Given the description of an element on the screen output the (x, y) to click on. 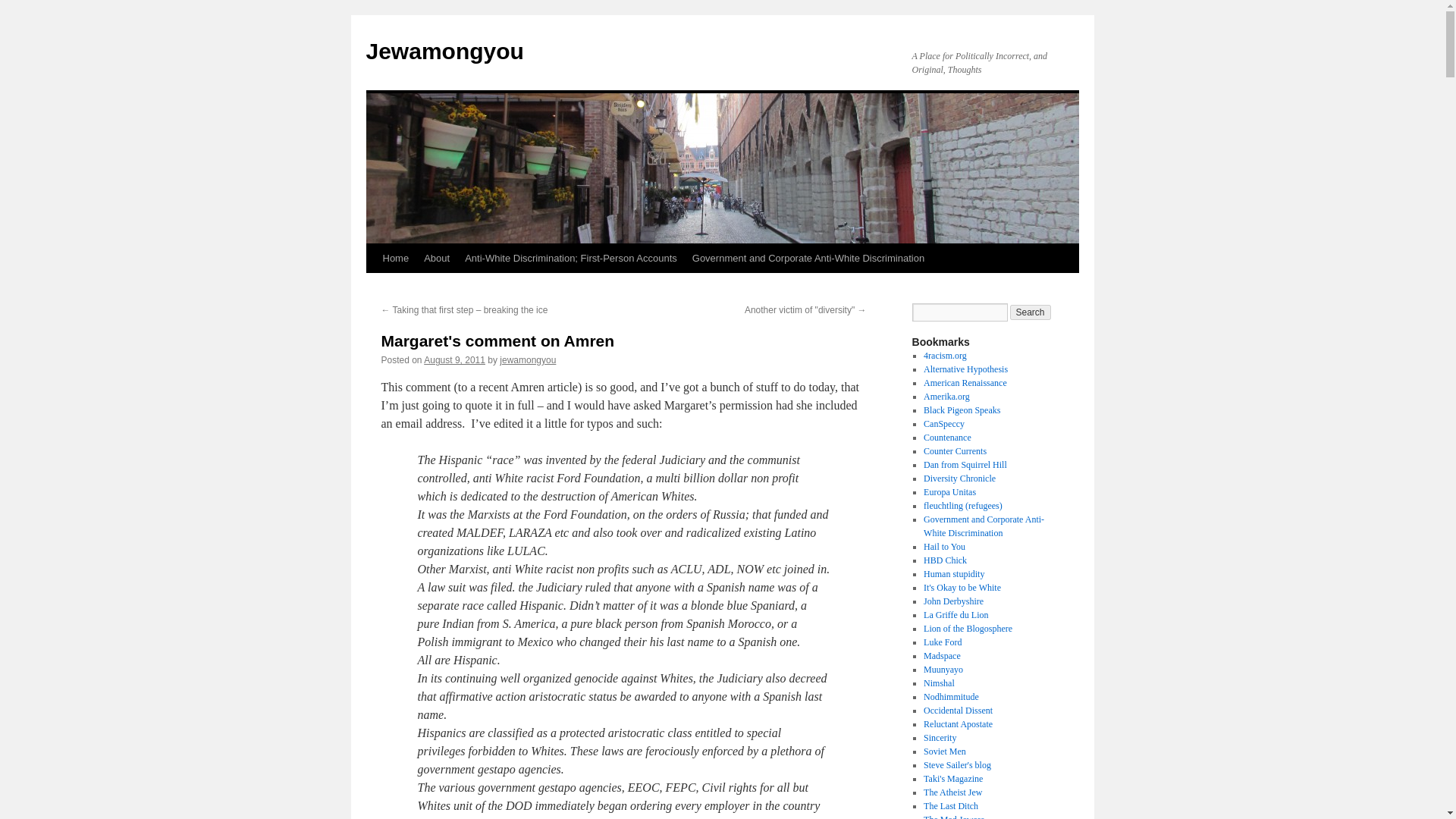
View all posts by jewamongyou (527, 359)
August 9, 2011 (453, 359)
Government and Corporate Anti-White Discrimination (807, 258)
jewamongyou (527, 359)
About (436, 258)
Jewamongyou (443, 50)
Anti-White Discrimination; First-Person Accounts (570, 258)
Search (1030, 312)
Home (395, 258)
4:42 am (453, 359)
